Given the description of an element on the screen output the (x, y) to click on. 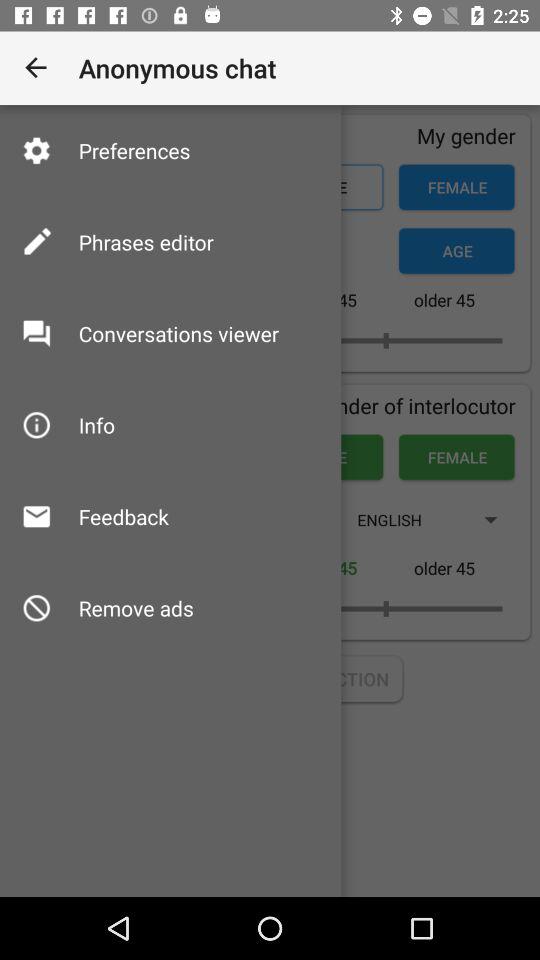
scroll to the phrases editor icon (145, 241)
